Given the description of an element on the screen output the (x, y) to click on. 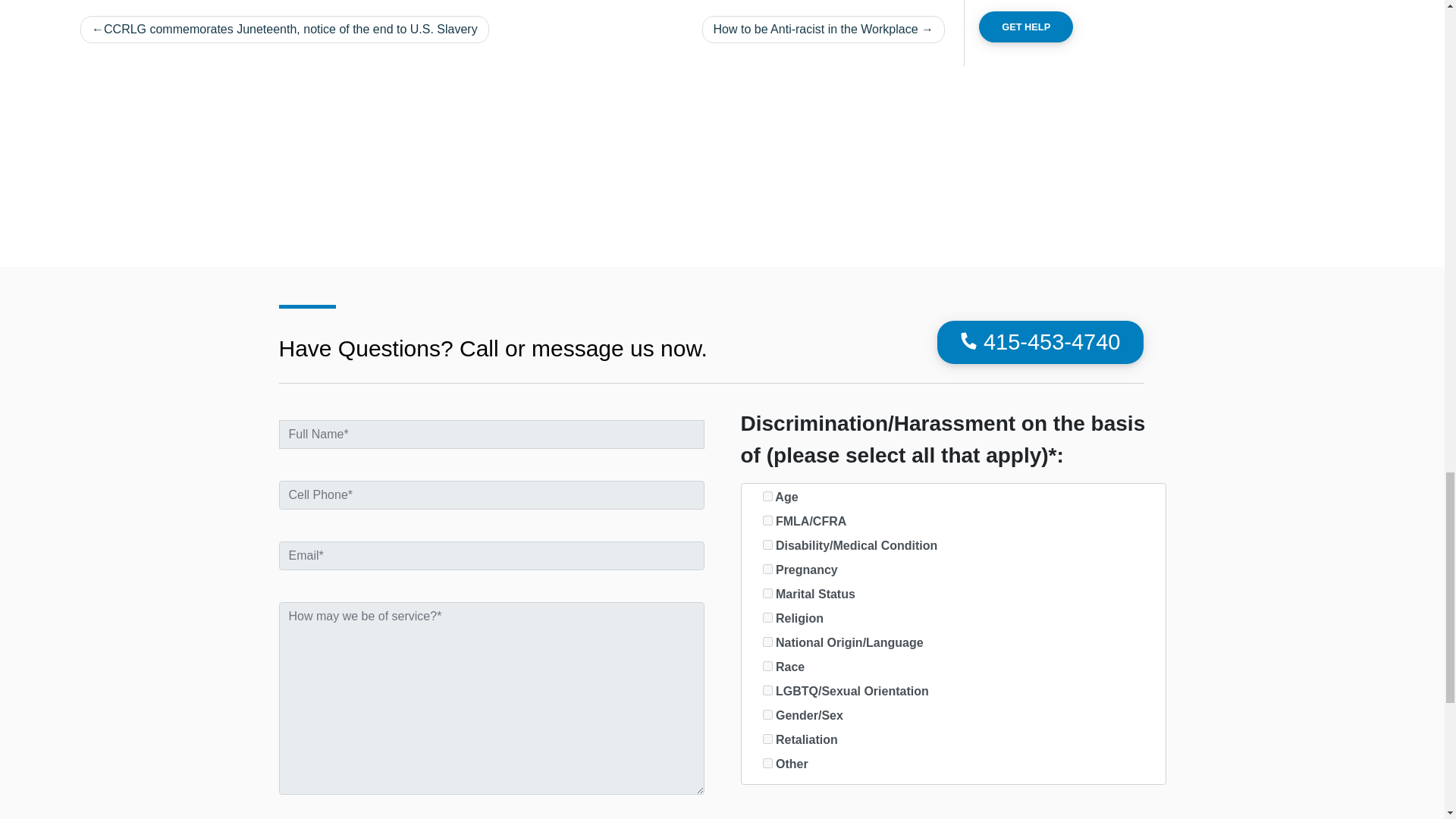
Race (767, 665)
Marital Status (767, 593)
Religion (767, 617)
Age (767, 496)
Retaliation (767, 738)
415-453-4740 (1039, 342)
Other (767, 763)
Pregnancy (767, 569)
How to be Anti-racist in the Workplace (822, 29)
